Given the description of an element on the screen output the (x, y) to click on. 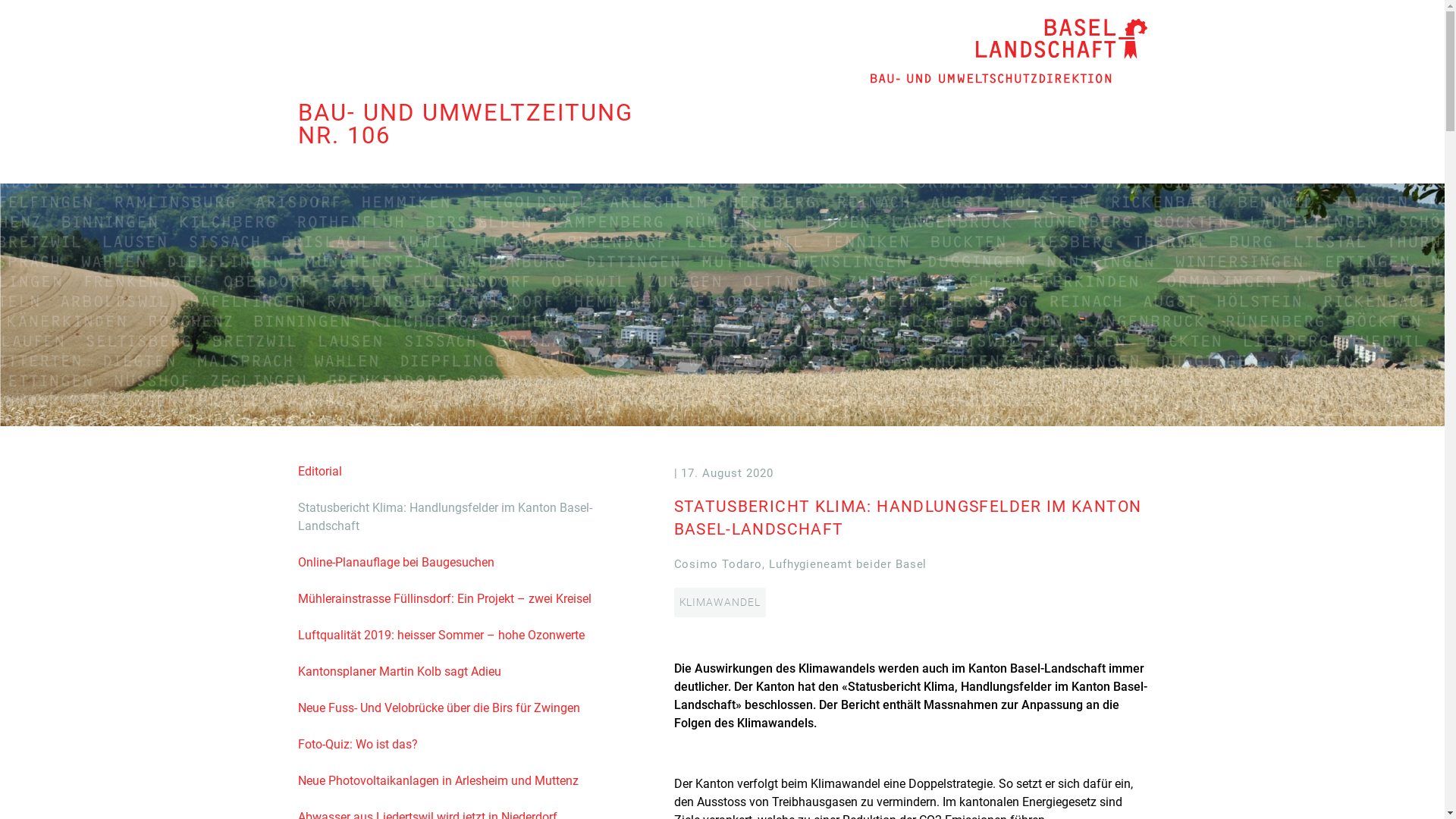
Foto-Quiz: Wo ist das? Element type: text (357, 744)
KLIMAWANDEL Element type: text (719, 602)
Neue Photovoltaikanlagen in Arlesheim und Muttenz Element type: text (437, 780)
Online-Planauflage bei Baugesuchen Element type: text (395, 562)
Kantonsplaner Martin Kolb sagt Adieu Element type: text (398, 671)
Editorial Element type: text (319, 471)
BAU- UND UMWELTZEITUNG Element type: text (464, 112)
NR. 106 Element type: text (343, 135)
